Given the description of an element on the screen output the (x, y) to click on. 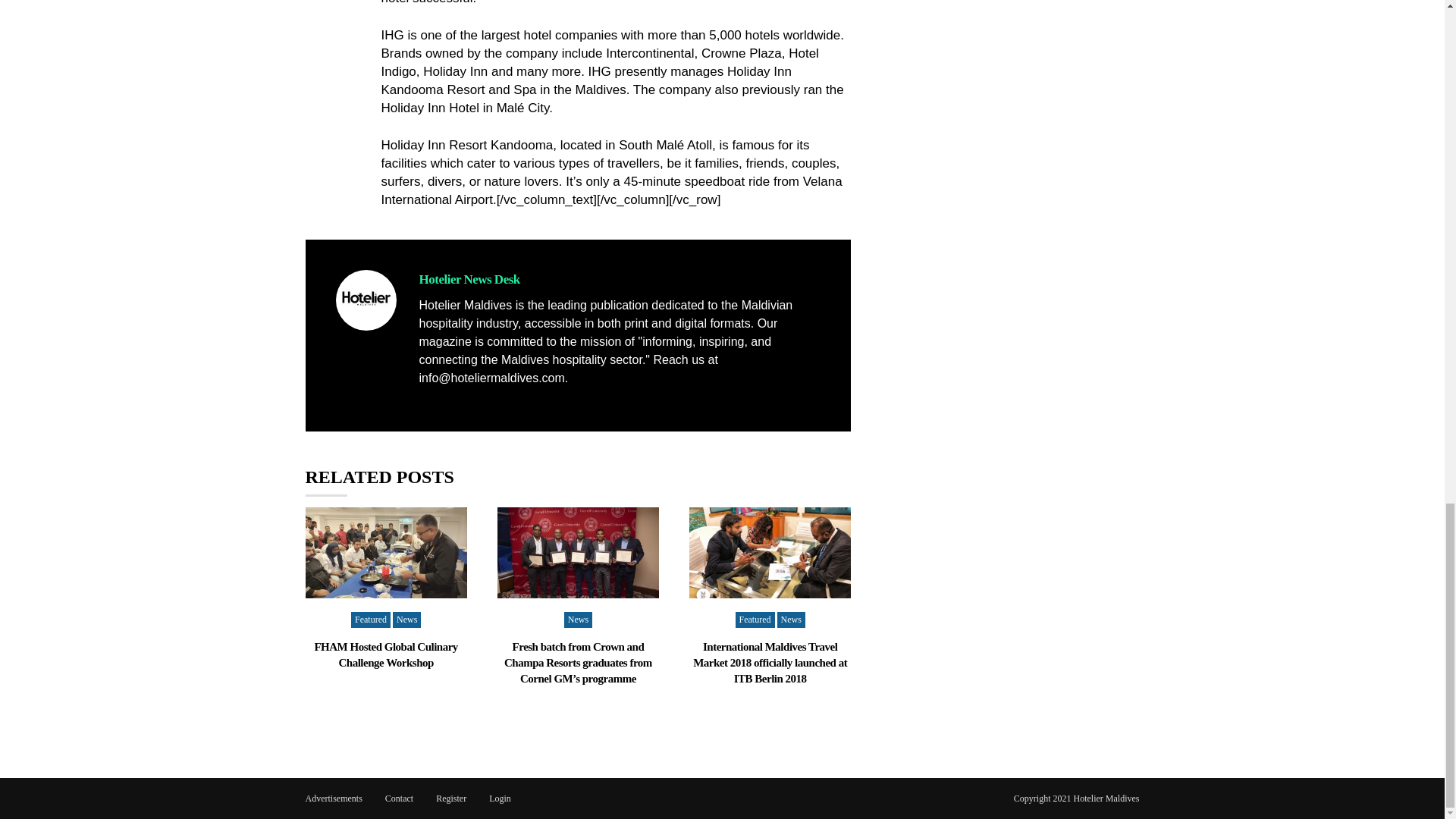
Posts by Hotelier News Desk (469, 278)
News (406, 619)
News (578, 619)
Hotelier News Desk (469, 278)
FHAM Hosted Global Culinary Challenge Workshop (385, 654)
Featured (370, 619)
